Given the description of an element on the screen output the (x, y) to click on. 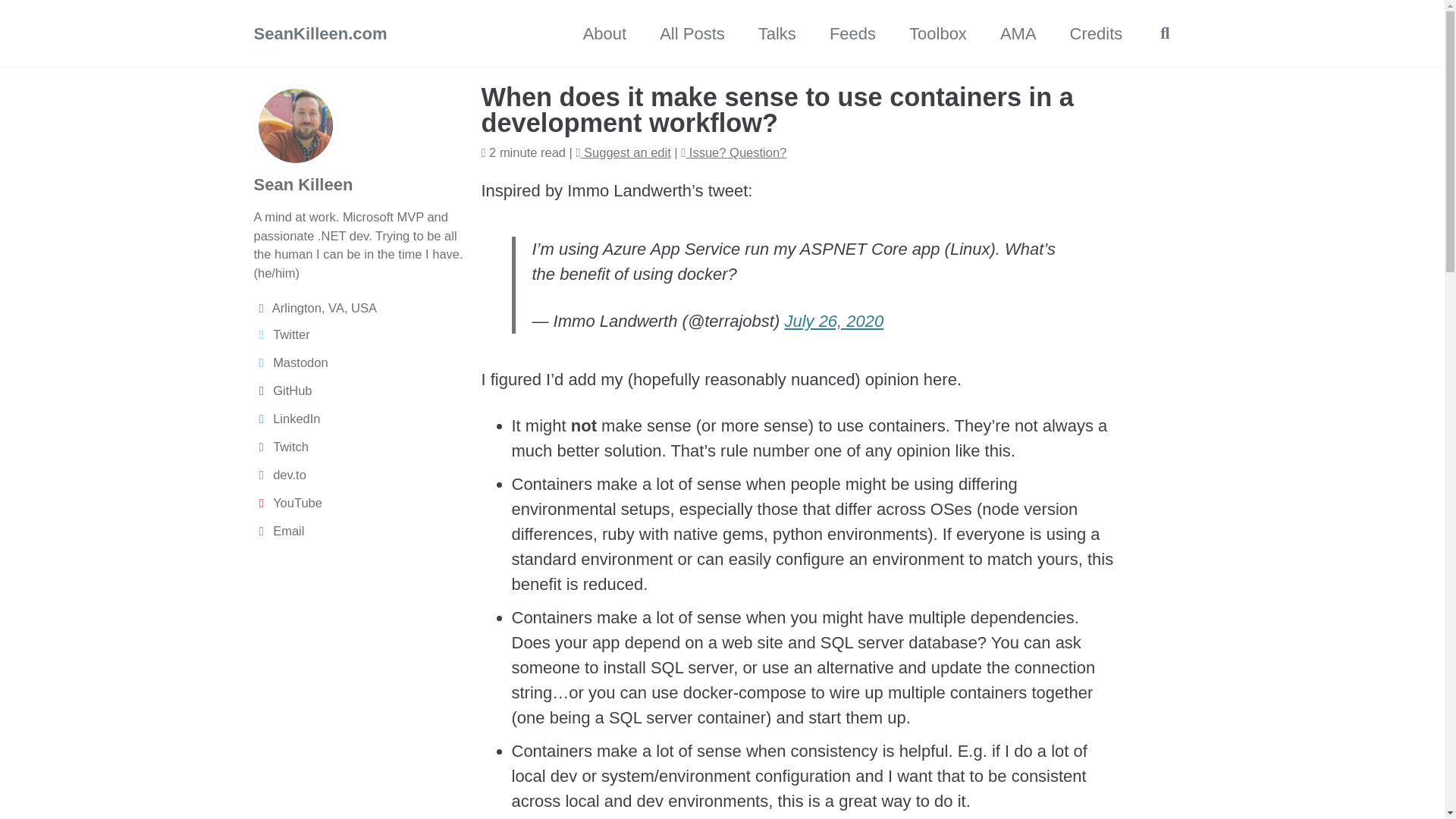
Suggest an edit (622, 151)
Issue? Question? (733, 151)
YouTube (358, 503)
Mastodon (358, 362)
LinkedIn (358, 418)
dev.to (358, 475)
Talks (777, 33)
Sean Killeen (302, 184)
All Posts (692, 33)
